Given the description of an element on the screen output the (x, y) to click on. 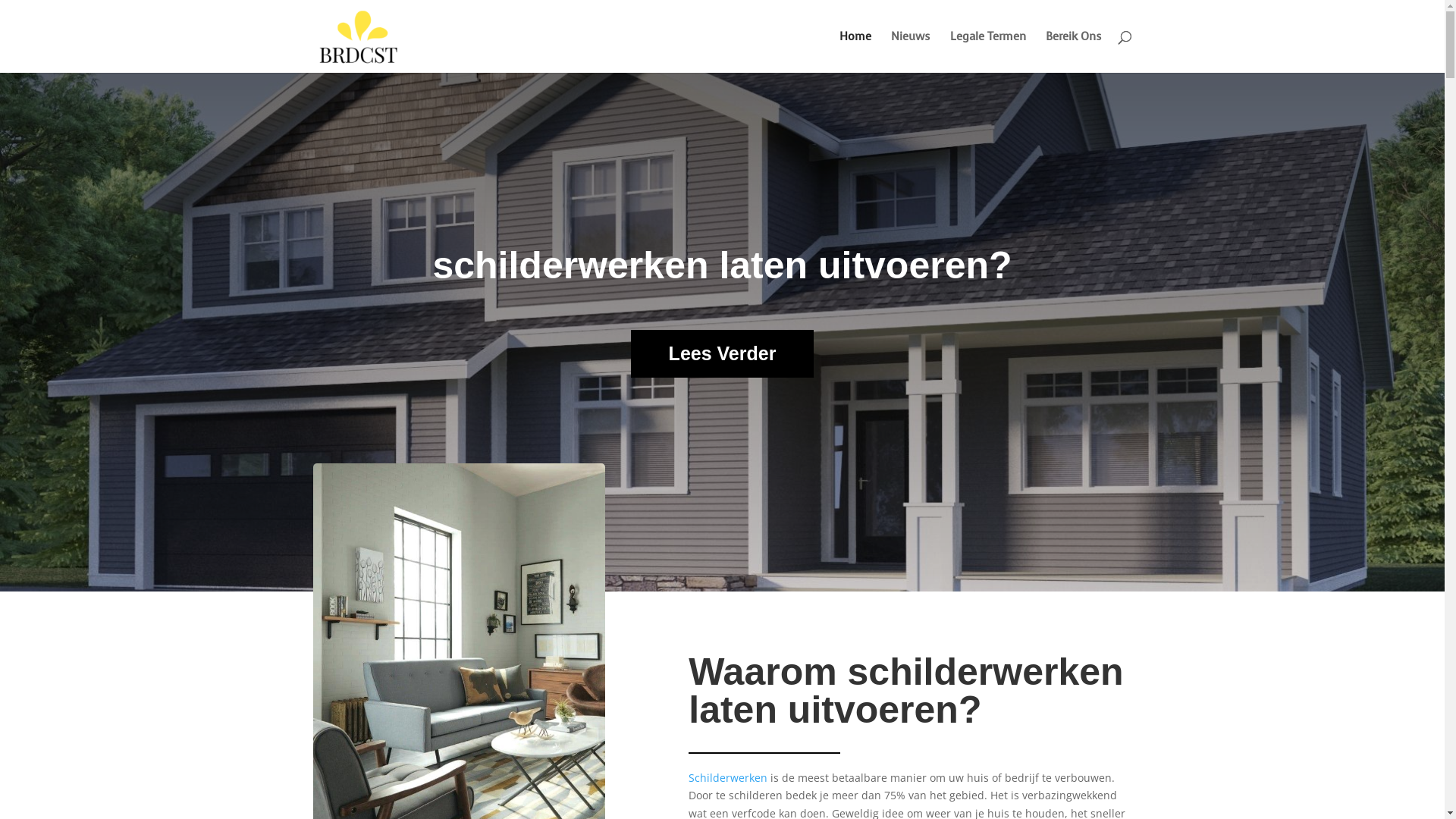
Lees Verder Element type: text (722, 353)
Nieuws Element type: text (909, 51)
Bereik Ons Element type: text (1072, 51)
Legale Termen Element type: text (987, 51)
Schilderwerken Element type: text (727, 777)
Home Element type: text (854, 51)
